Given the description of an element on the screen output the (x, y) to click on. 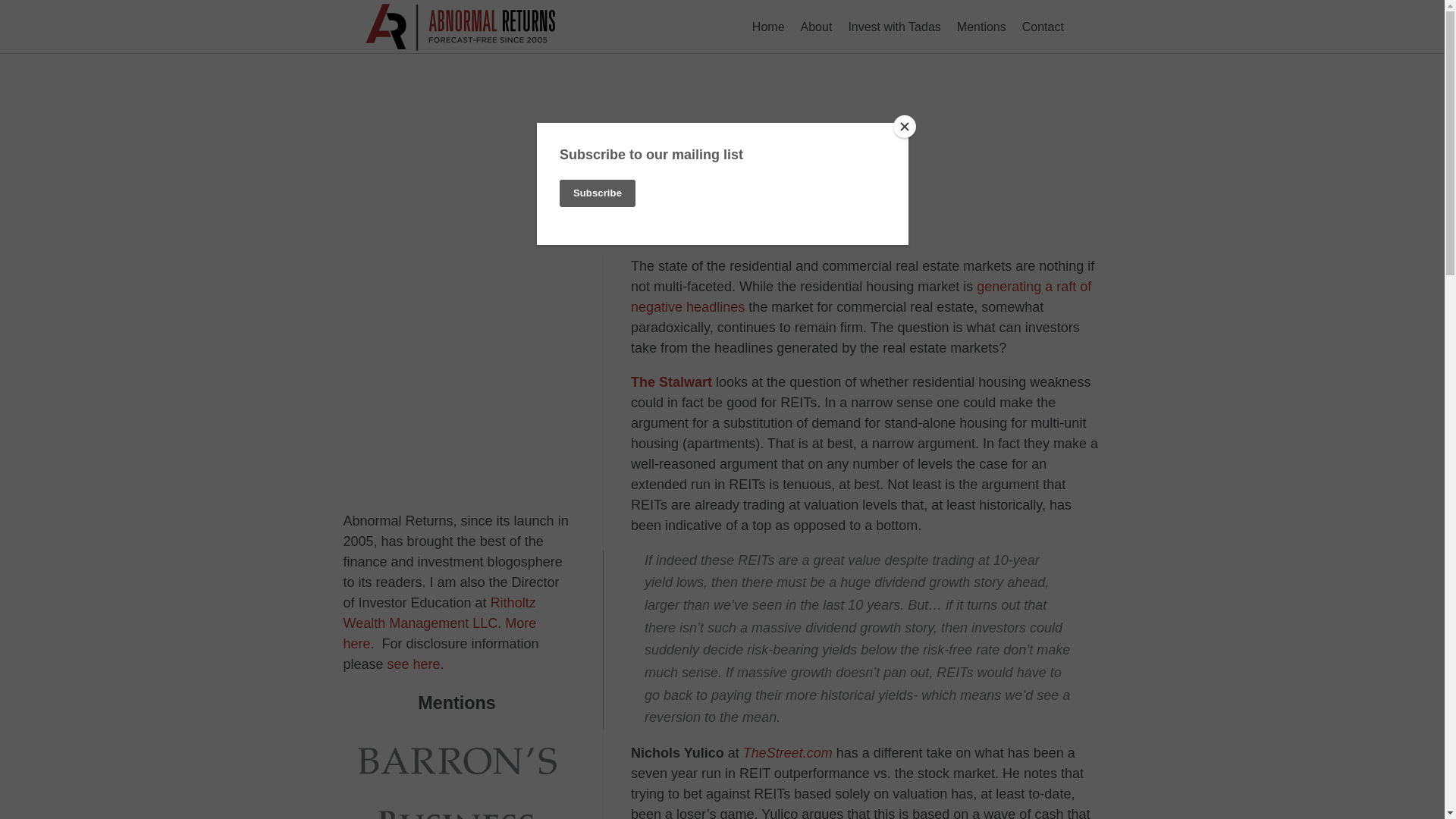
More here (438, 633)
see here (414, 663)
TheStreet.com (787, 752)
Ritholtz Wealth Management LLC (438, 611)
Big Picture (860, 296)
About (816, 26)
The Stalwart (670, 381)
The Stalwart (670, 381)
TheStreet.com (787, 752)
Contact (1043, 26)
Home (767, 26)
Mentions (980, 26)
Invest with Tadas (893, 26)
generating a raft of negative headlines (860, 296)
